Given the description of an element on the screen output the (x, y) to click on. 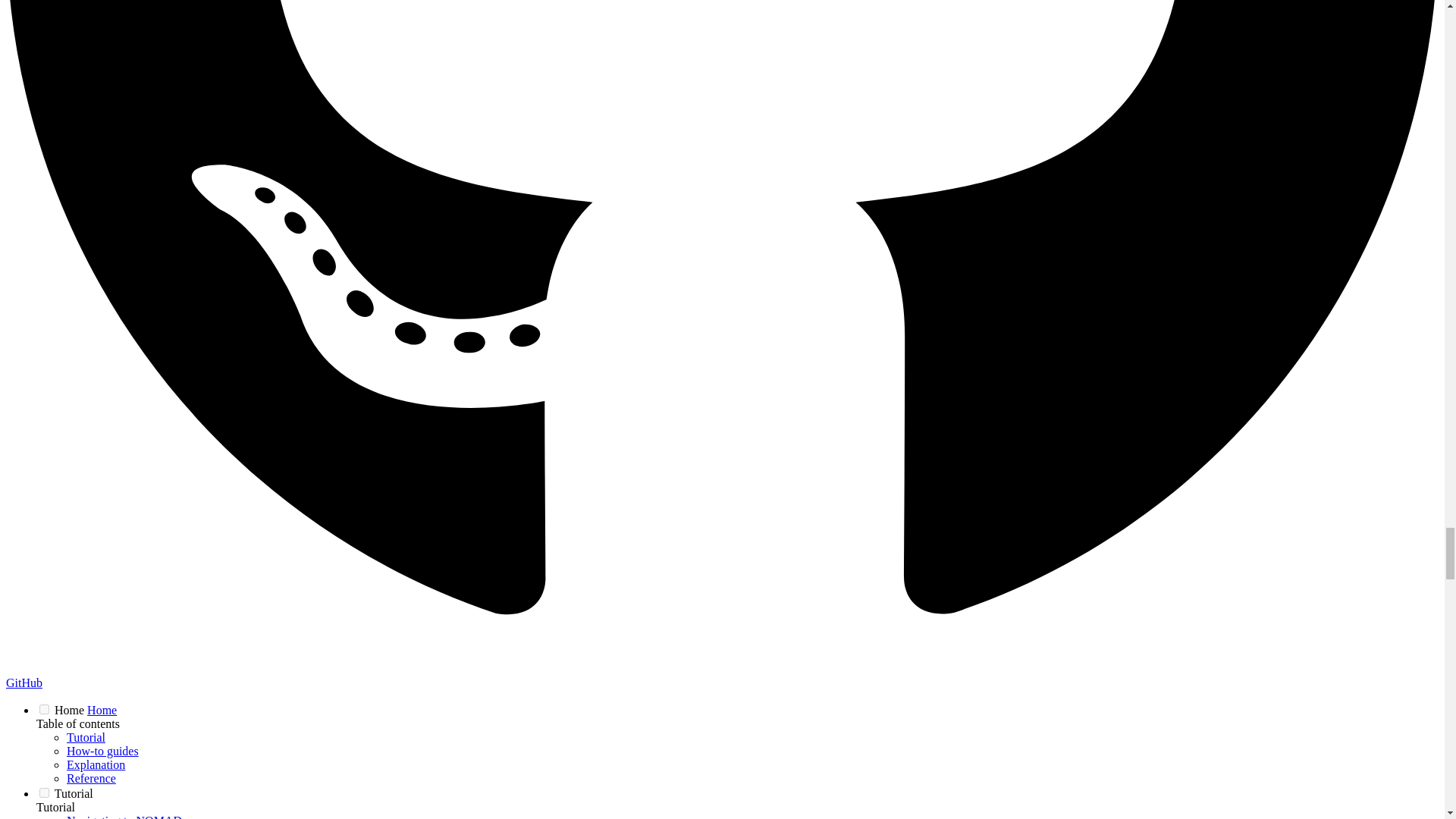
Reference (91, 778)
on (44, 792)
on (44, 709)
Explanation (95, 764)
Tutorial (85, 737)
How-to guides (102, 750)
Home (101, 709)
Navigating to NOMAD (124, 816)
